Given the description of an element on the screen output the (x, y) to click on. 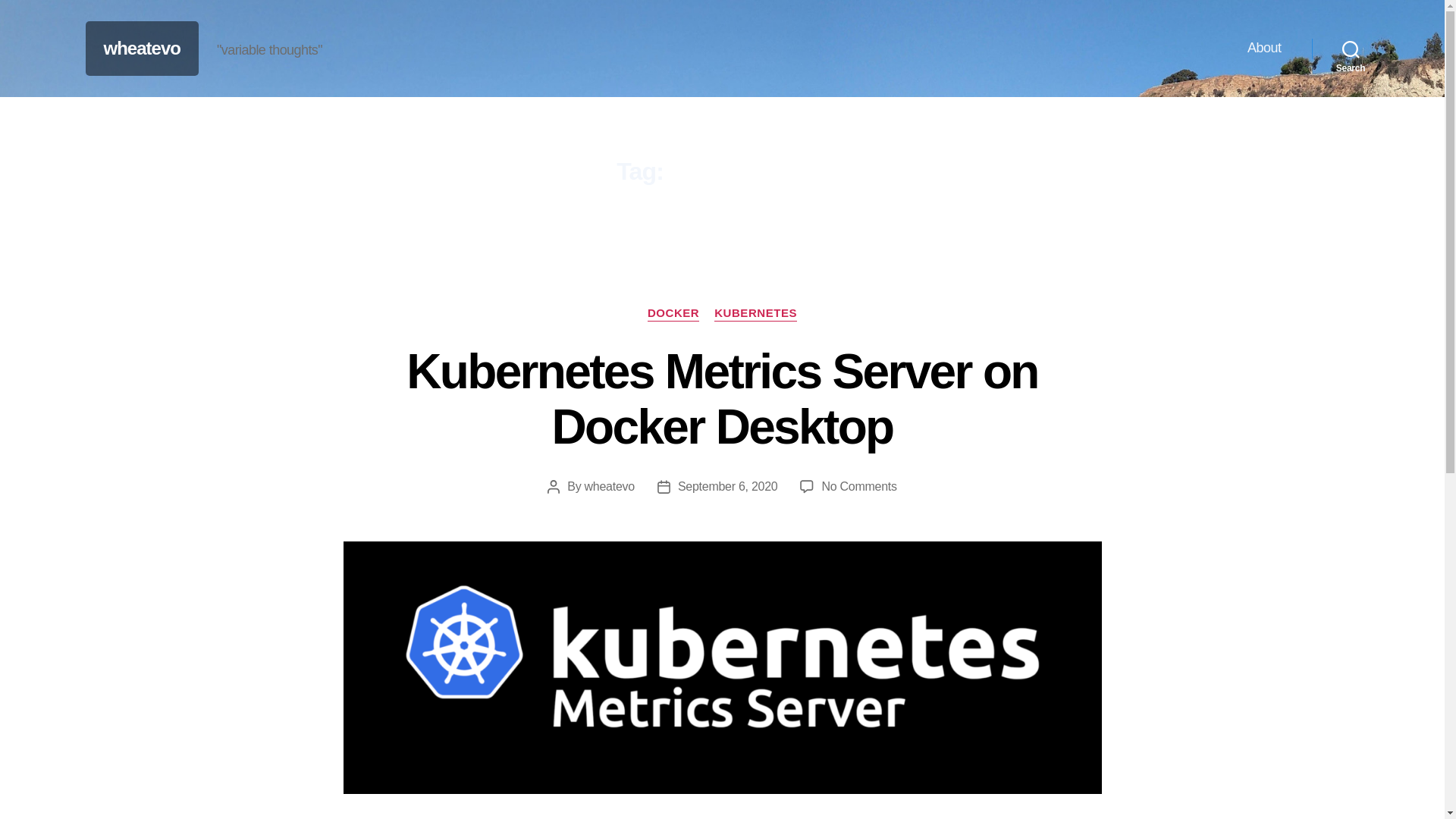
Kubernetes Metrics Server on Docker Desktop (722, 398)
September 6, 2020 (727, 486)
wheatevo (141, 48)
wheatevo (609, 486)
DOCKER (672, 313)
KUBERNETES (755, 313)
About (1264, 48)
Search (858, 486)
